Given the description of an element on the screen output the (x, y) to click on. 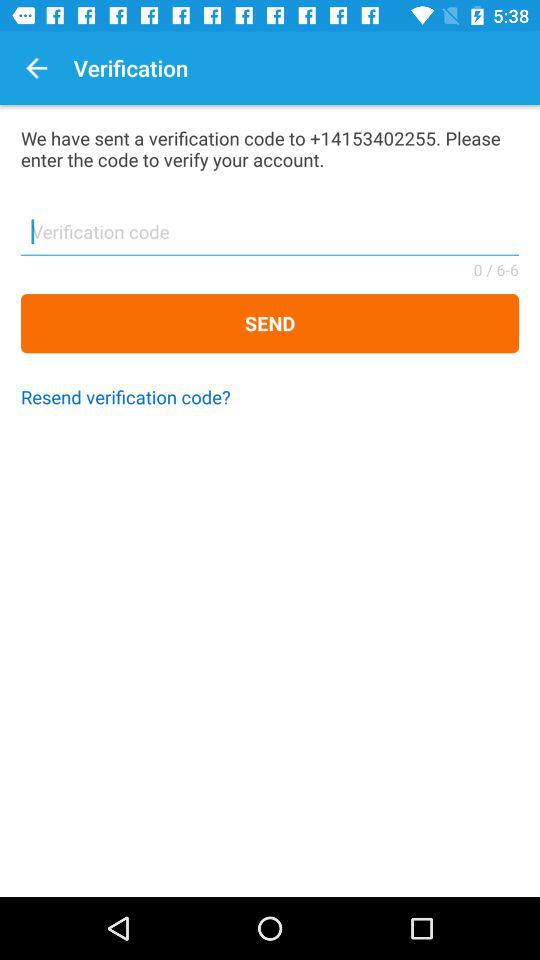
go back (36, 68)
